Given the description of an element on the screen output the (x, y) to click on. 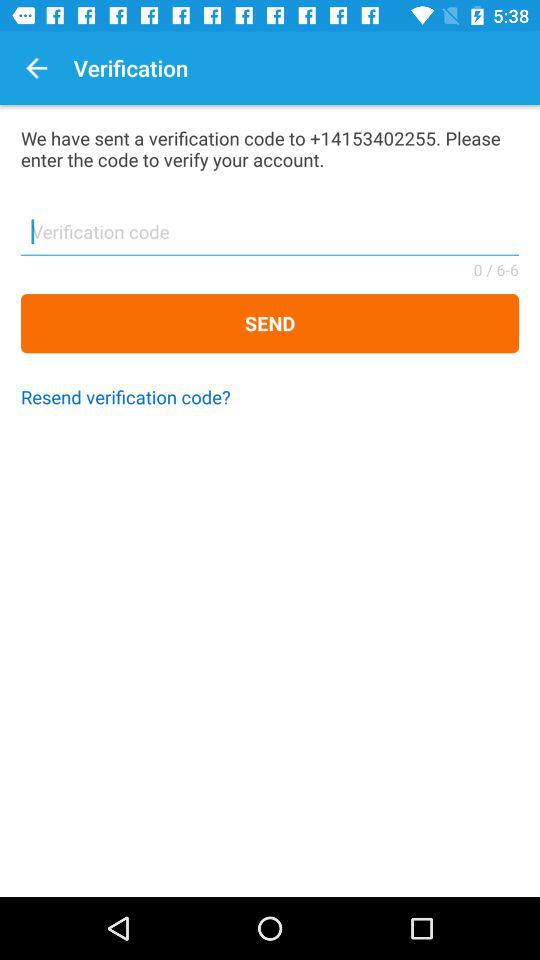
go back (36, 68)
